Given the description of an element on the screen output the (x, y) to click on. 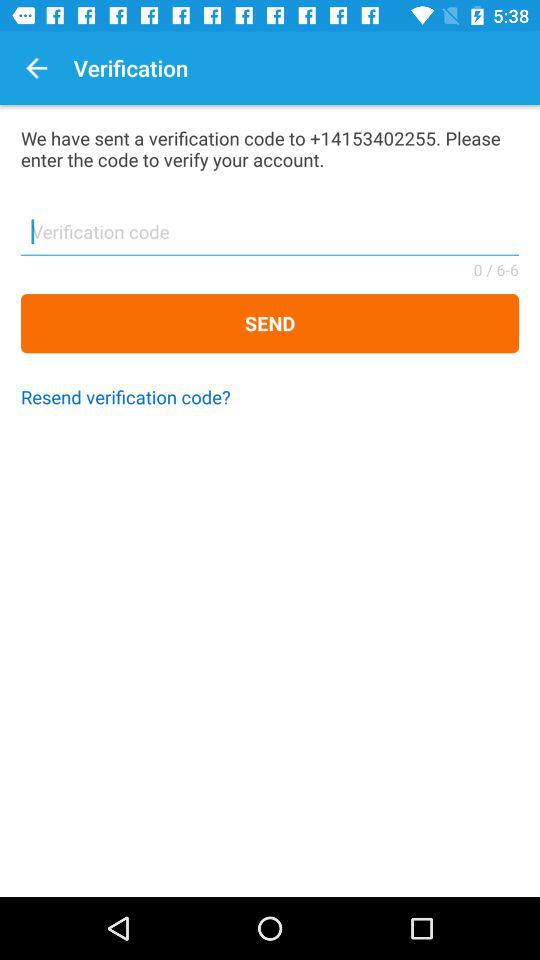
go back (36, 68)
